Given the description of an element on the screen output the (x, y) to click on. 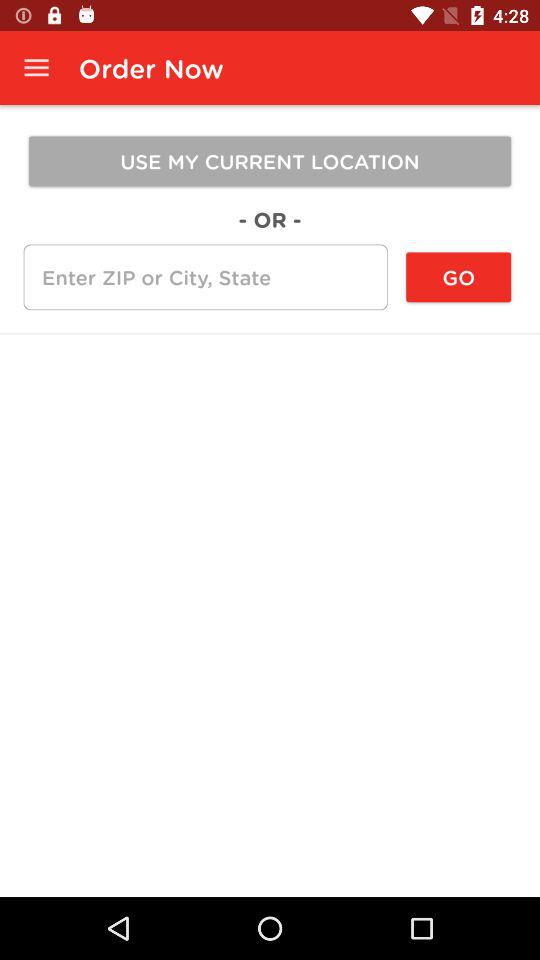
scroll to the go icon (458, 277)
